Given the description of an element on the screen output the (x, y) to click on. 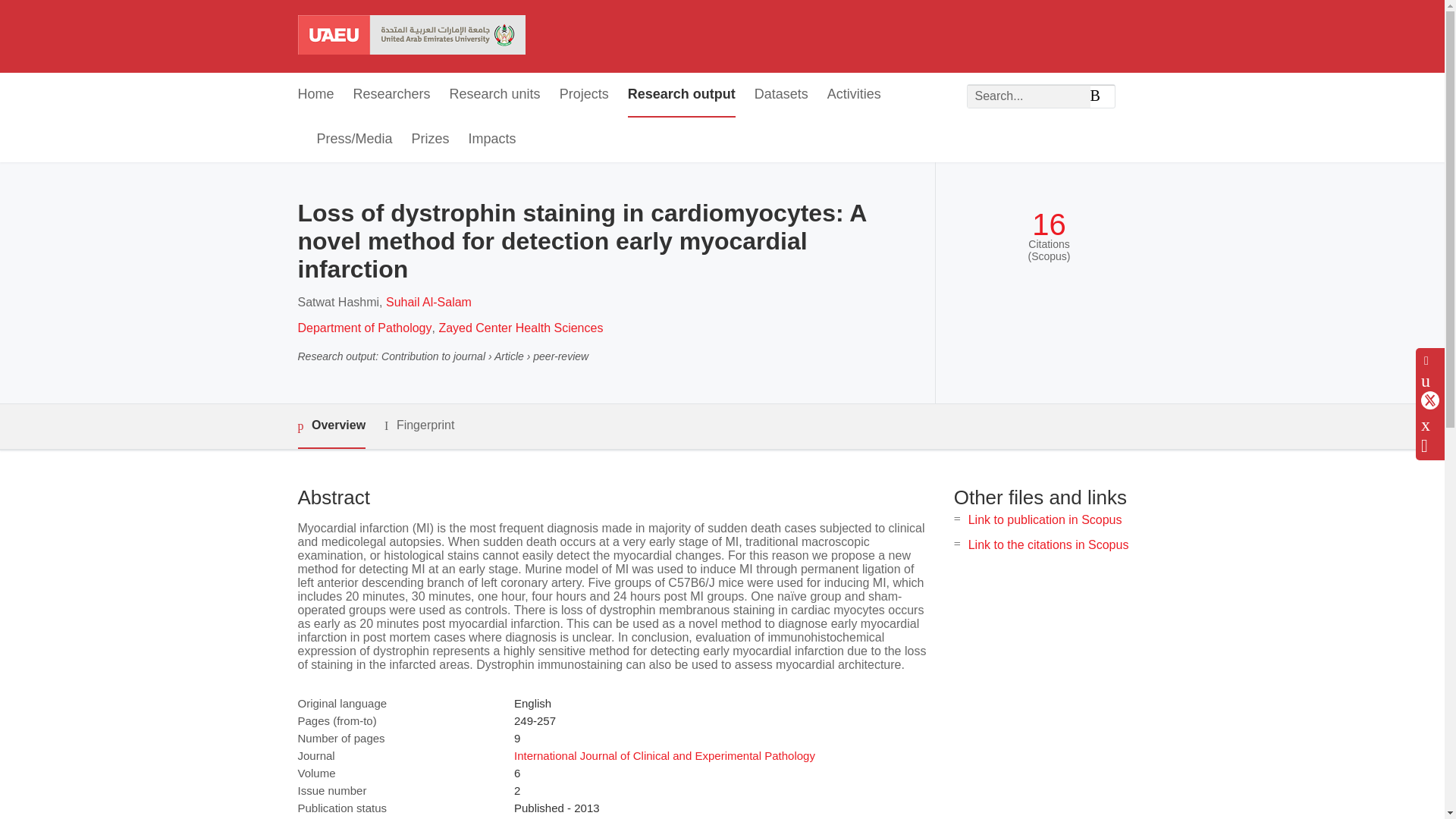
Activities (853, 94)
Department of Pathology (363, 327)
16 (1048, 224)
Zayed Center Health Sciences  (521, 327)
Link to the citations in Scopus (1048, 544)
Link to publication in Scopus (1045, 519)
Projects (583, 94)
Suhail Al-Salam (428, 301)
Overview (331, 426)
Impacts (492, 139)
